Given the description of an element on the screen output the (x, y) to click on. 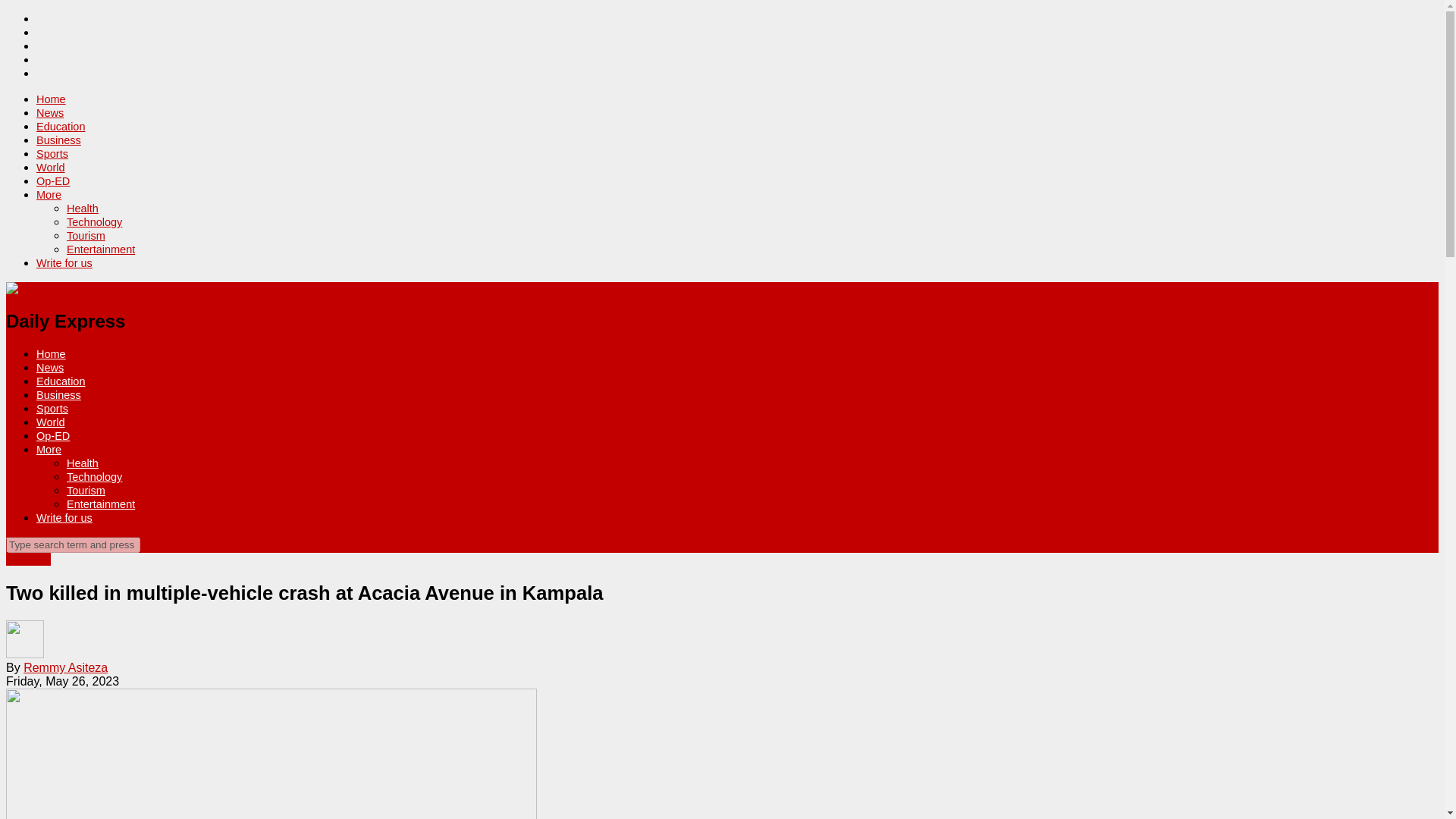
Education (60, 381)
Posts by Remmy Asiteza (65, 667)
Health (82, 463)
Op-ED (52, 181)
News (50, 112)
Tourism (85, 490)
National (27, 558)
Entertainment (100, 249)
More (48, 194)
Business (58, 395)
